Given the description of an element on the screen output the (x, y) to click on. 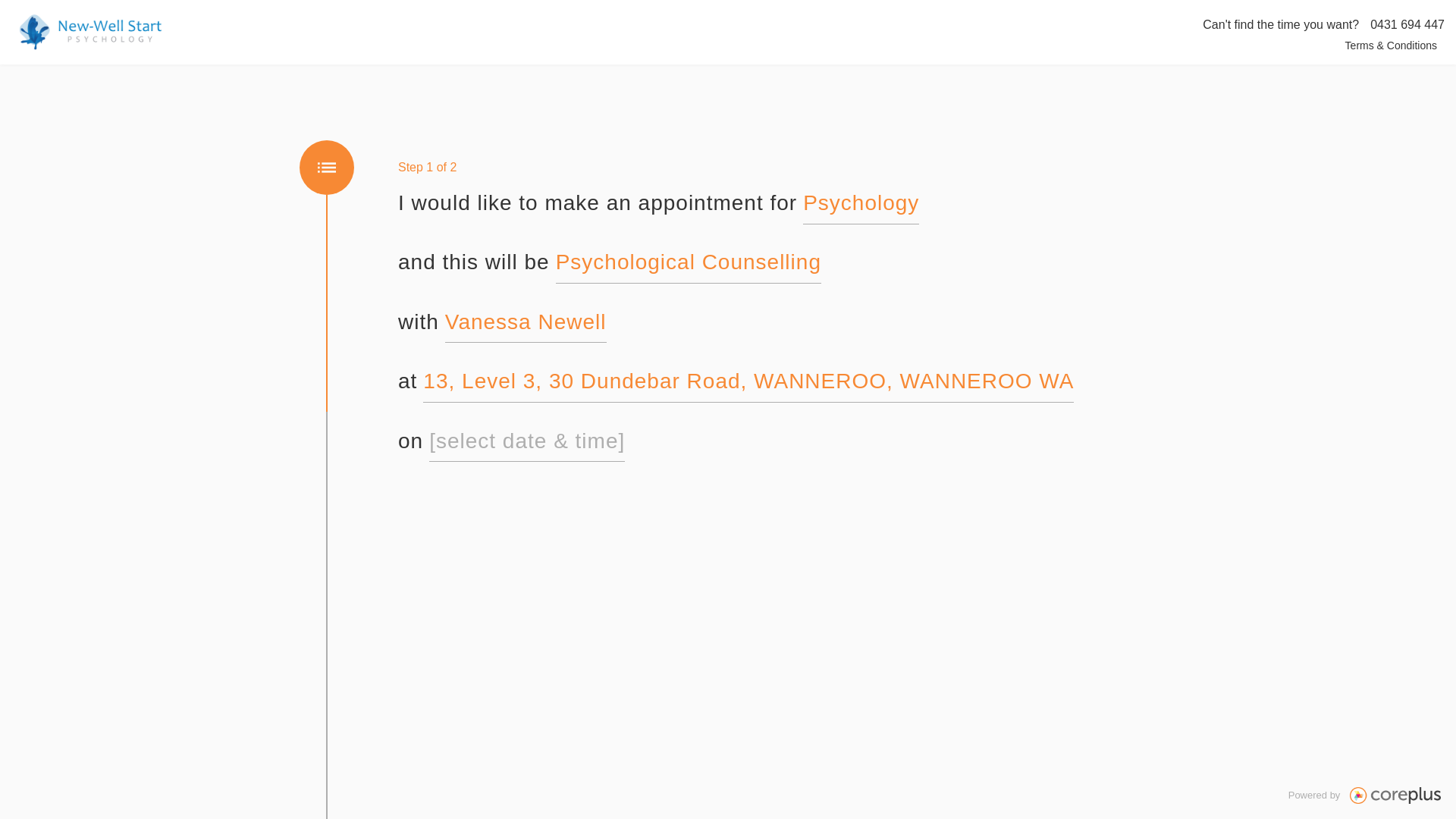
Terms & Conditions Element type: text (1391, 45)
